Given the description of an element on the screen output the (x, y) to click on. 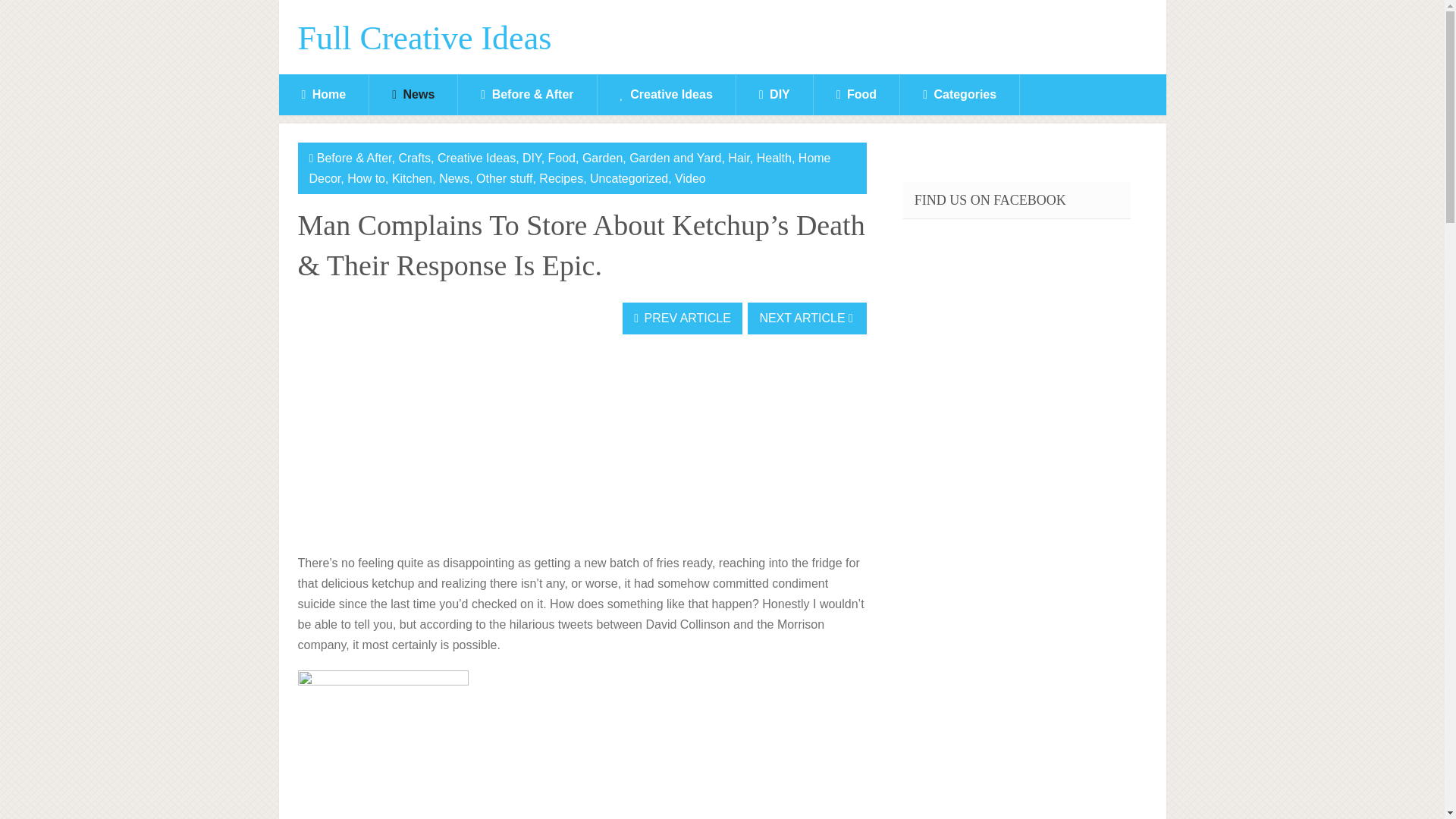
View all posts in Kitchen (411, 178)
View all posts in News (453, 178)
NEXT ARTICLE (807, 318)
Full Creative Ideas (424, 38)
Food (561, 157)
Creative Ideas (476, 157)
Video (690, 178)
DIY (531, 157)
Food (856, 94)
Categories (959, 94)
Garden and Yard (674, 157)
View all posts in How to (366, 178)
DIY (774, 94)
View all posts in Garden (602, 157)
News (453, 178)
